Given the description of an element on the screen output the (x, y) to click on. 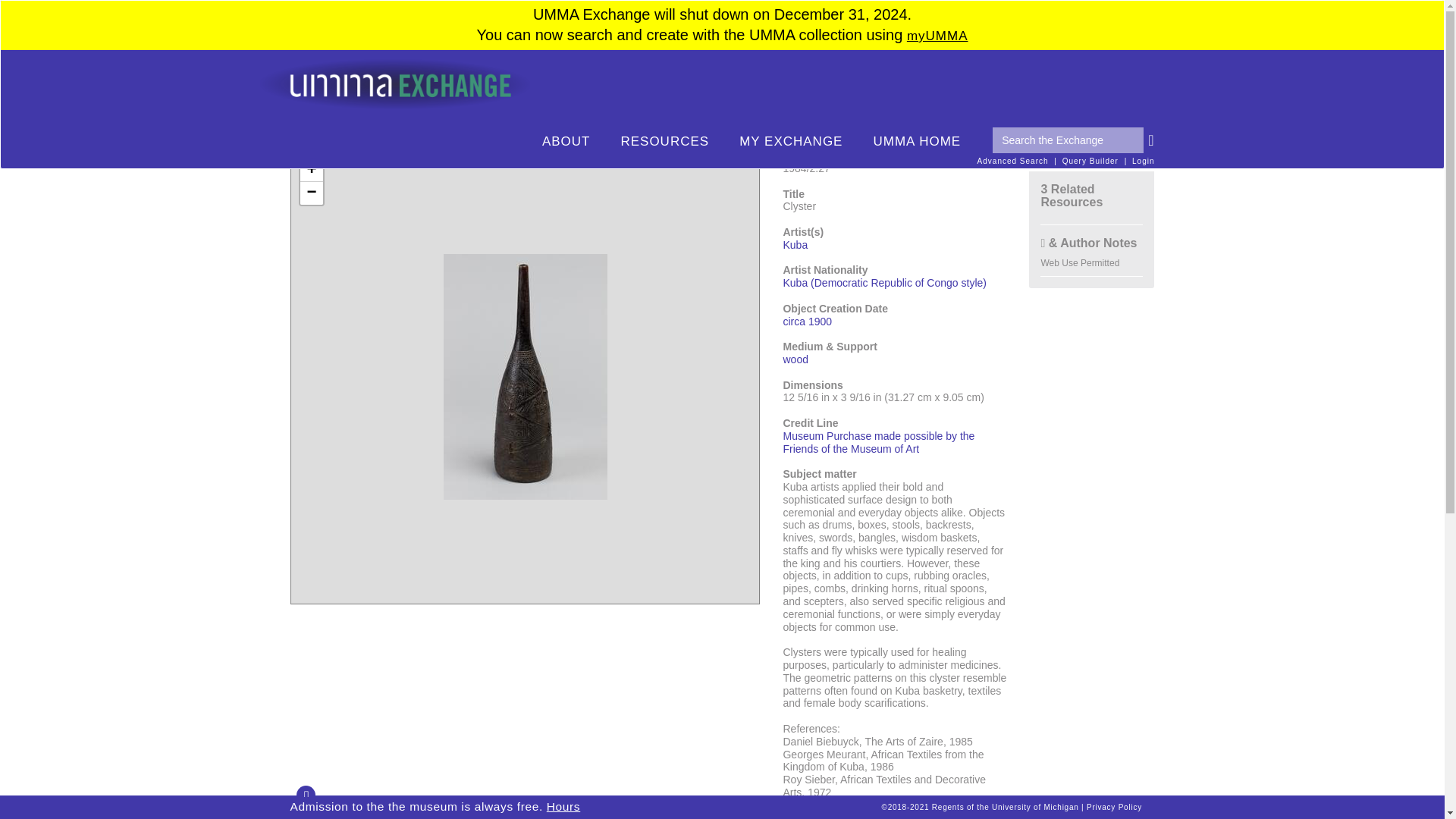
Login (1143, 161)
ABOUT (566, 141)
Material Culture Of Global Medicine (467, 89)
UMMA HOME (916, 141)
RESOURCES (664, 141)
Advanced Search (1012, 161)
MY EXCHANGE (790, 141)
Query Builder (1090, 161)
myUMMA (937, 35)
